Given the description of an element on the screen output the (x, y) to click on. 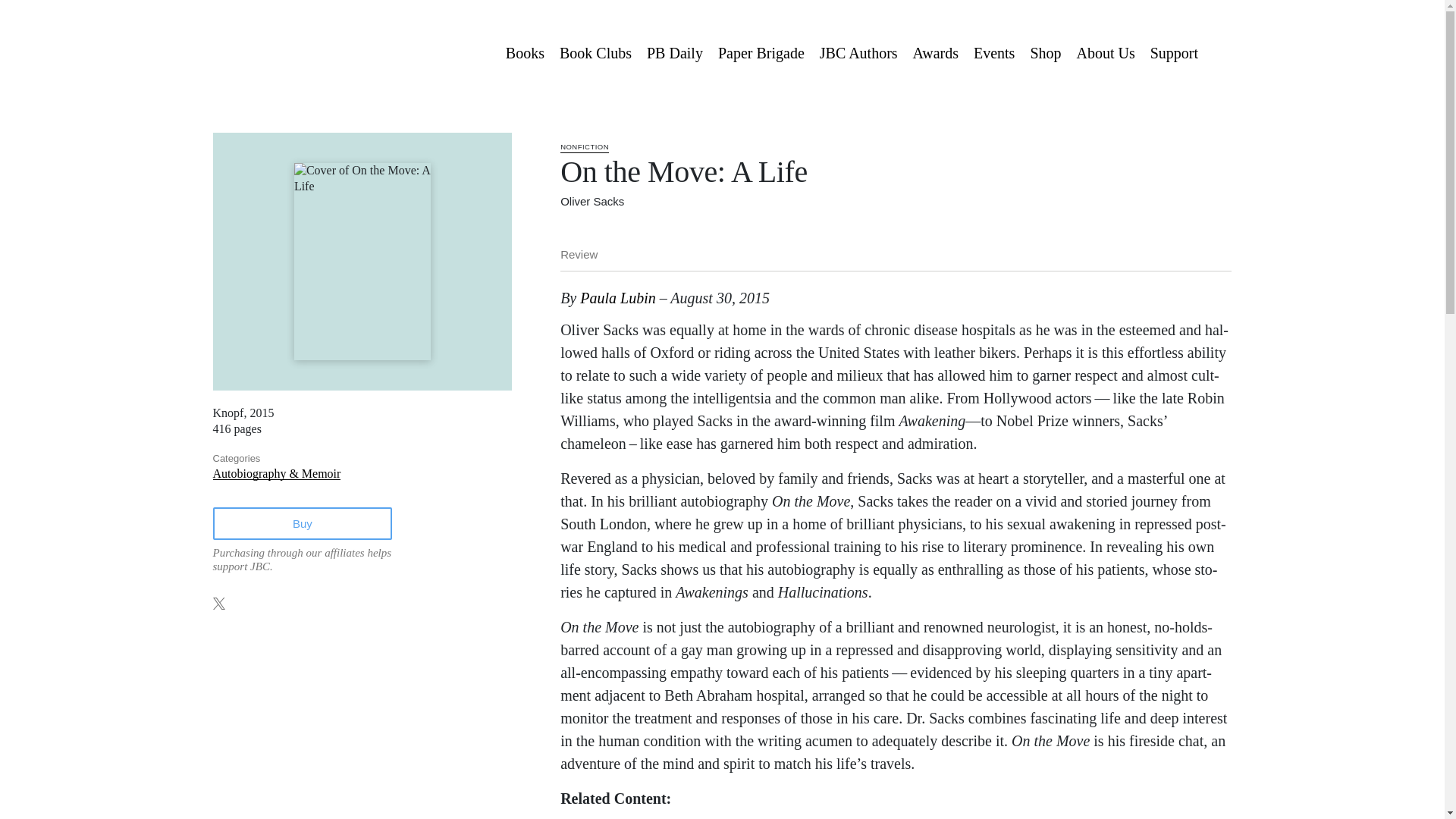
Awards (935, 52)
JBC Authors (858, 52)
Paper Brigade (761, 52)
Books (524, 52)
Book Clubs (595, 52)
PB Daily (674, 52)
